Given the description of an element on the screen output the (x, y) to click on. 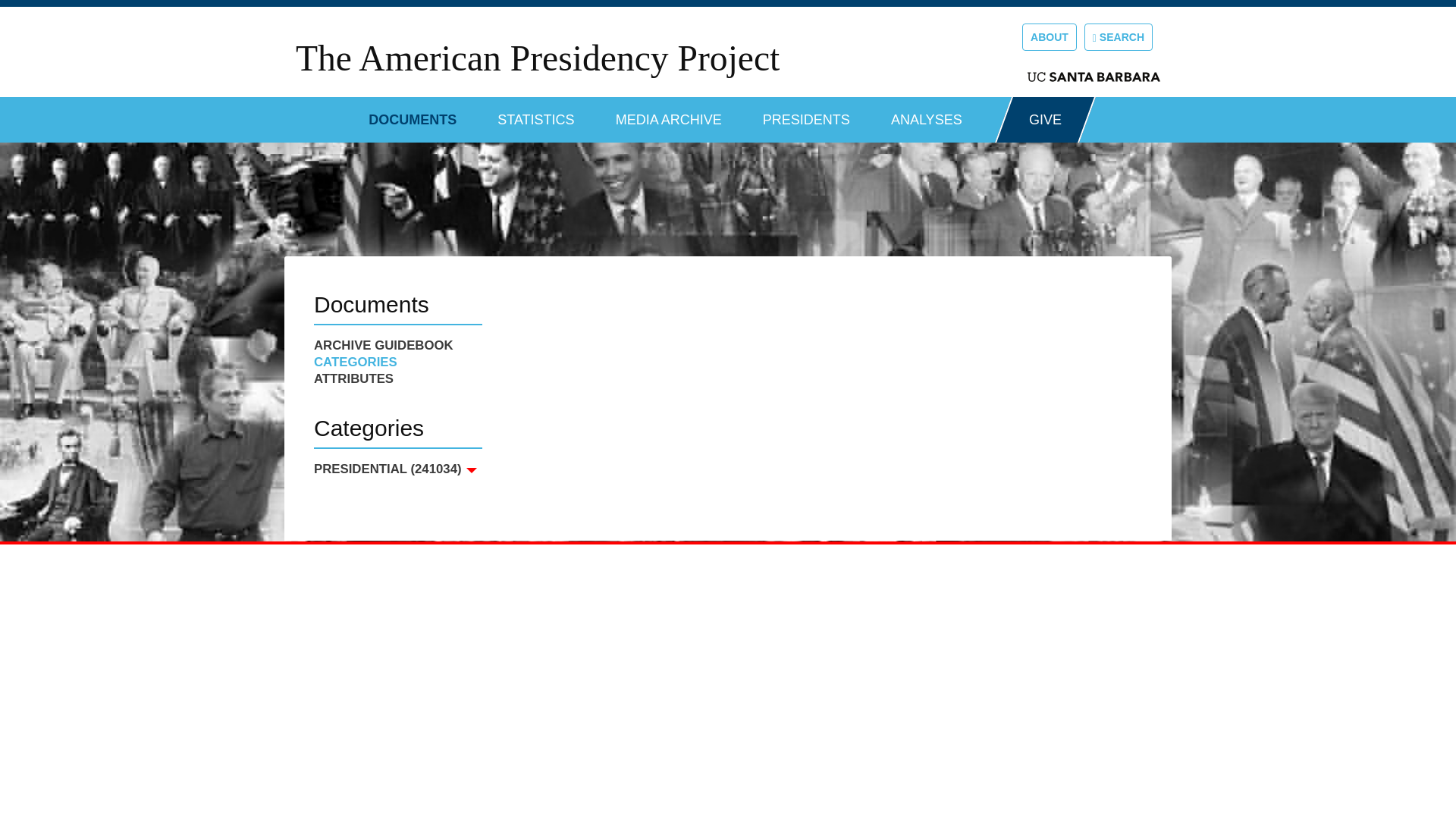
ABOUT (1049, 36)
The American Presidency Project (536, 57)
ARCHIVE GUIDEBOOK (397, 345)
DOCUMENTS (412, 113)
ATTRIBUTES (397, 379)
 SEARCH (1118, 36)
ANALYSES (926, 113)
MEDIA ARCHIVE (668, 113)
GIVE (1044, 119)
PRESIDENTS (806, 113)
STATISTICS (535, 113)
CATEGORIES (397, 362)
